Given the description of an element on the screen output the (x, y) to click on. 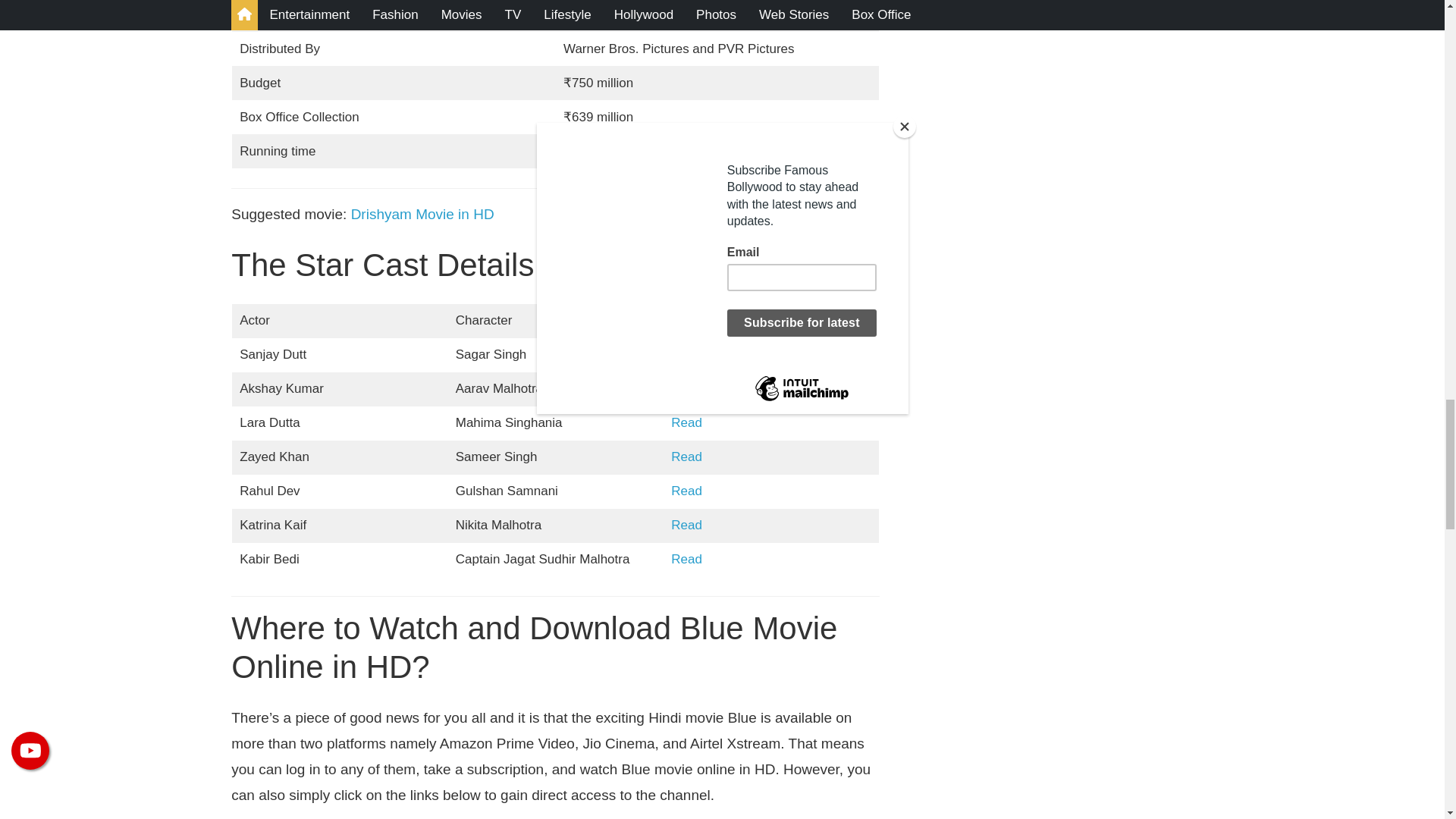
Drishyam Movie in HD (422, 213)
